Given the description of an element on the screen output the (x, y) to click on. 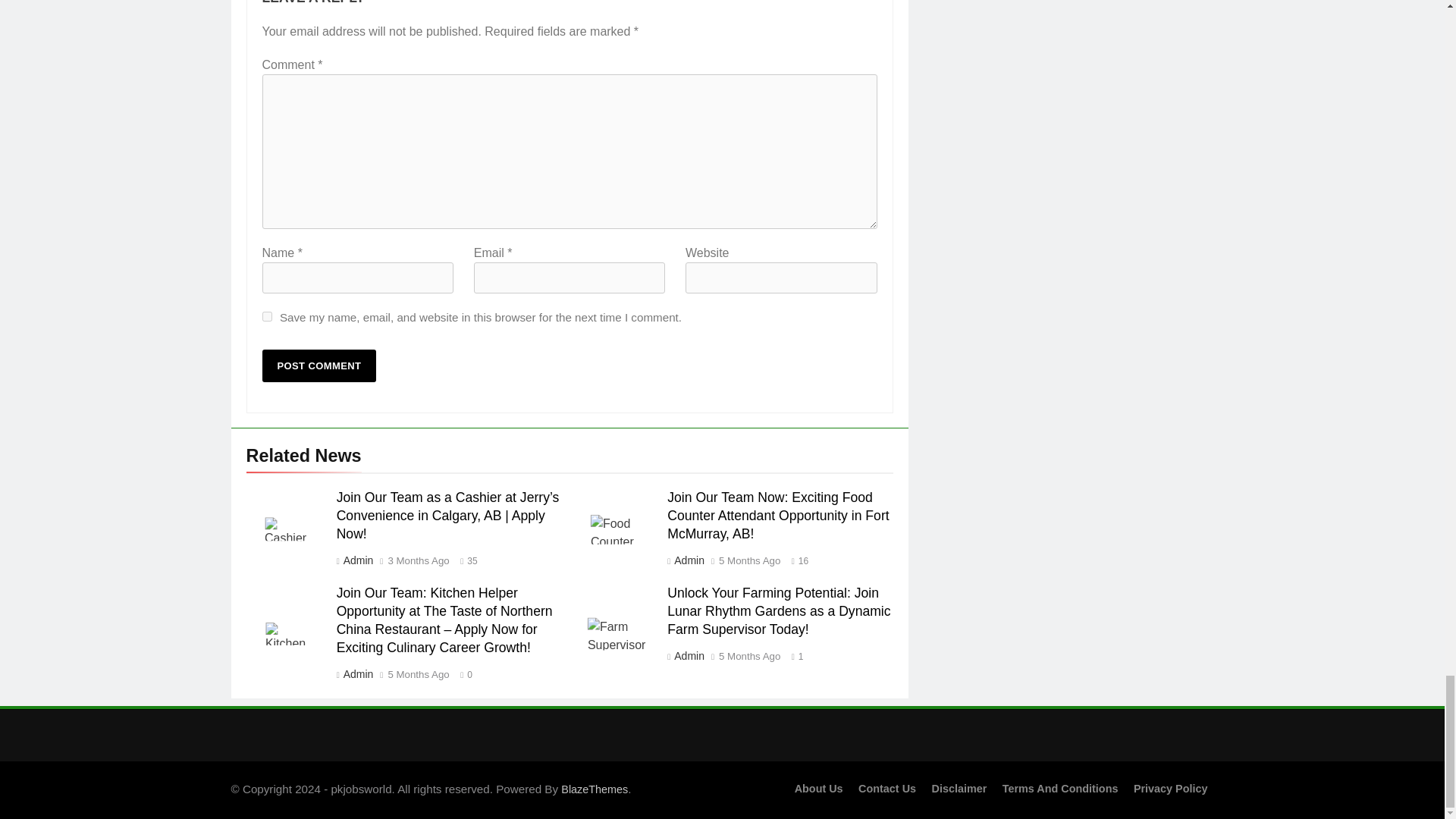
yes (267, 316)
Post Comment (319, 365)
